Given the description of an element on the screen output the (x, y) to click on. 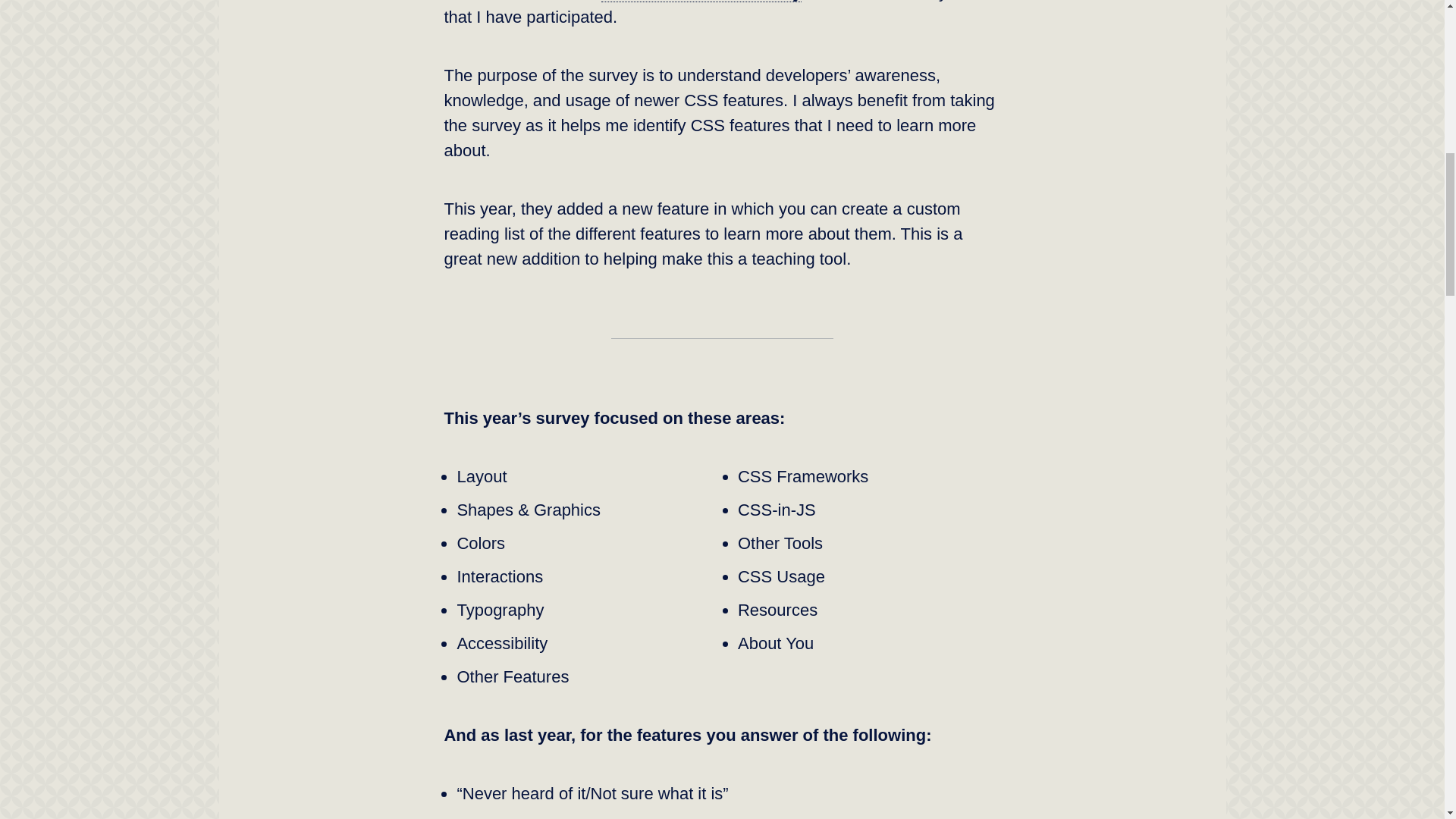
State of CSS 2023 survey (701, 1)
